Given the description of an element on the screen output the (x, y) to click on. 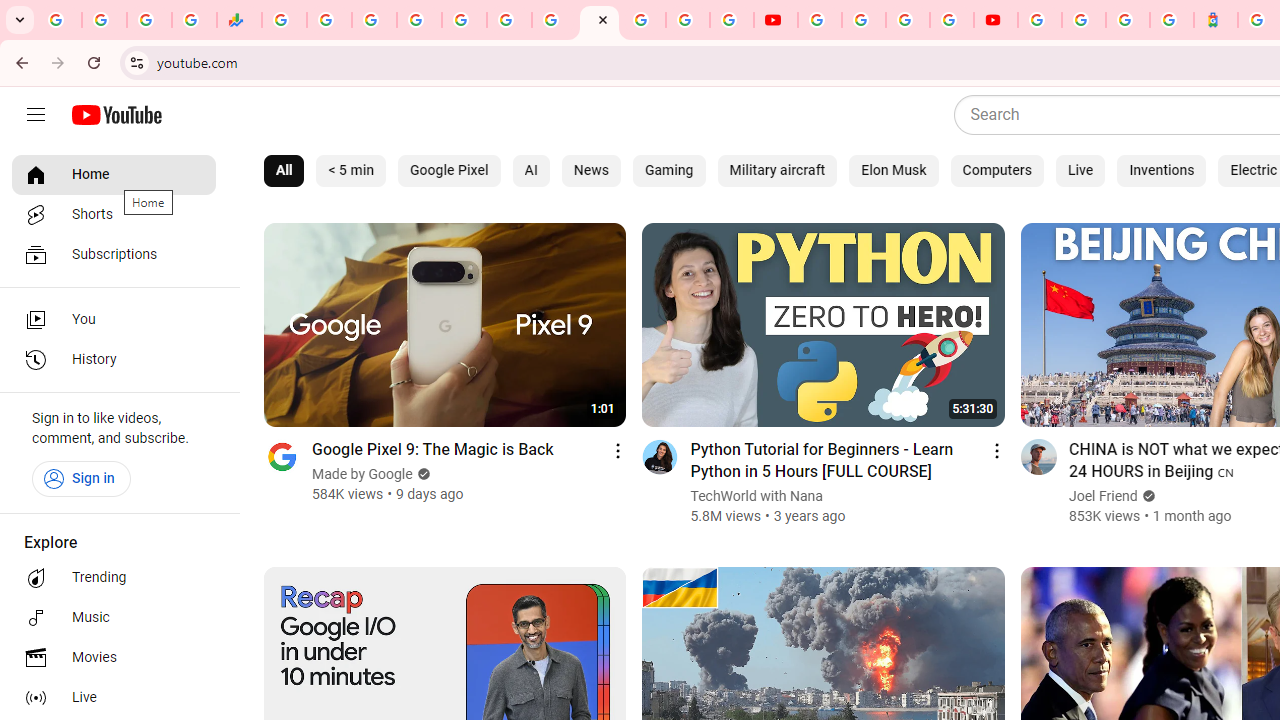
Google Workspace Admin Community (59, 20)
Google Pixel (449, 170)
